Given the description of an element on the screen output the (x, y) to click on. 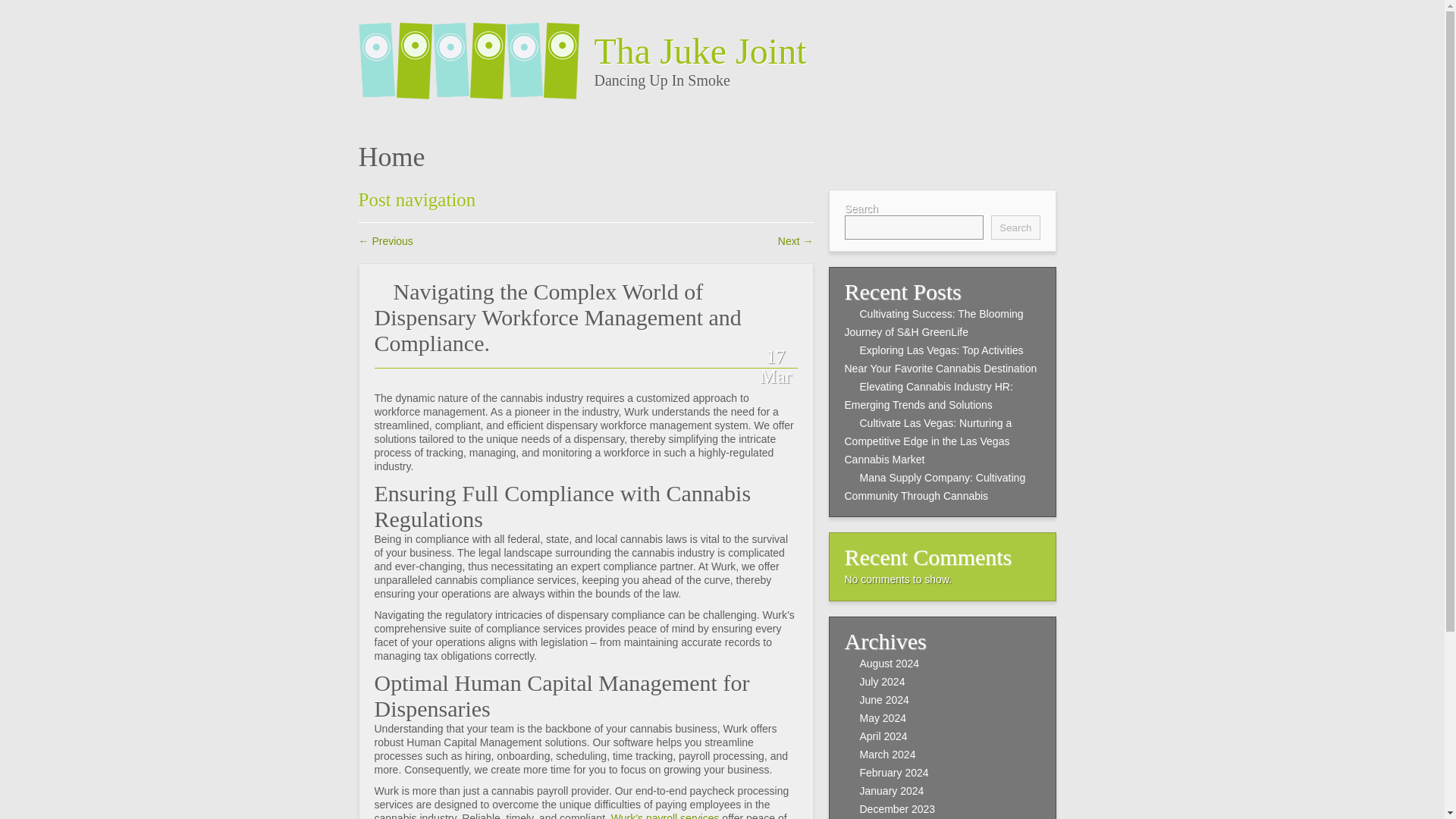
January 2024 (892, 790)
Tha Juke Joint (838, 51)
December 2023 (898, 808)
Home (391, 156)
August 2024 (890, 663)
July 2024 (882, 681)
February 2024 (894, 772)
Tha Juke Joint (476, 51)
April 2024 (883, 736)
June 2024 (884, 699)
